Given the description of an element on the screen output the (x, y) to click on. 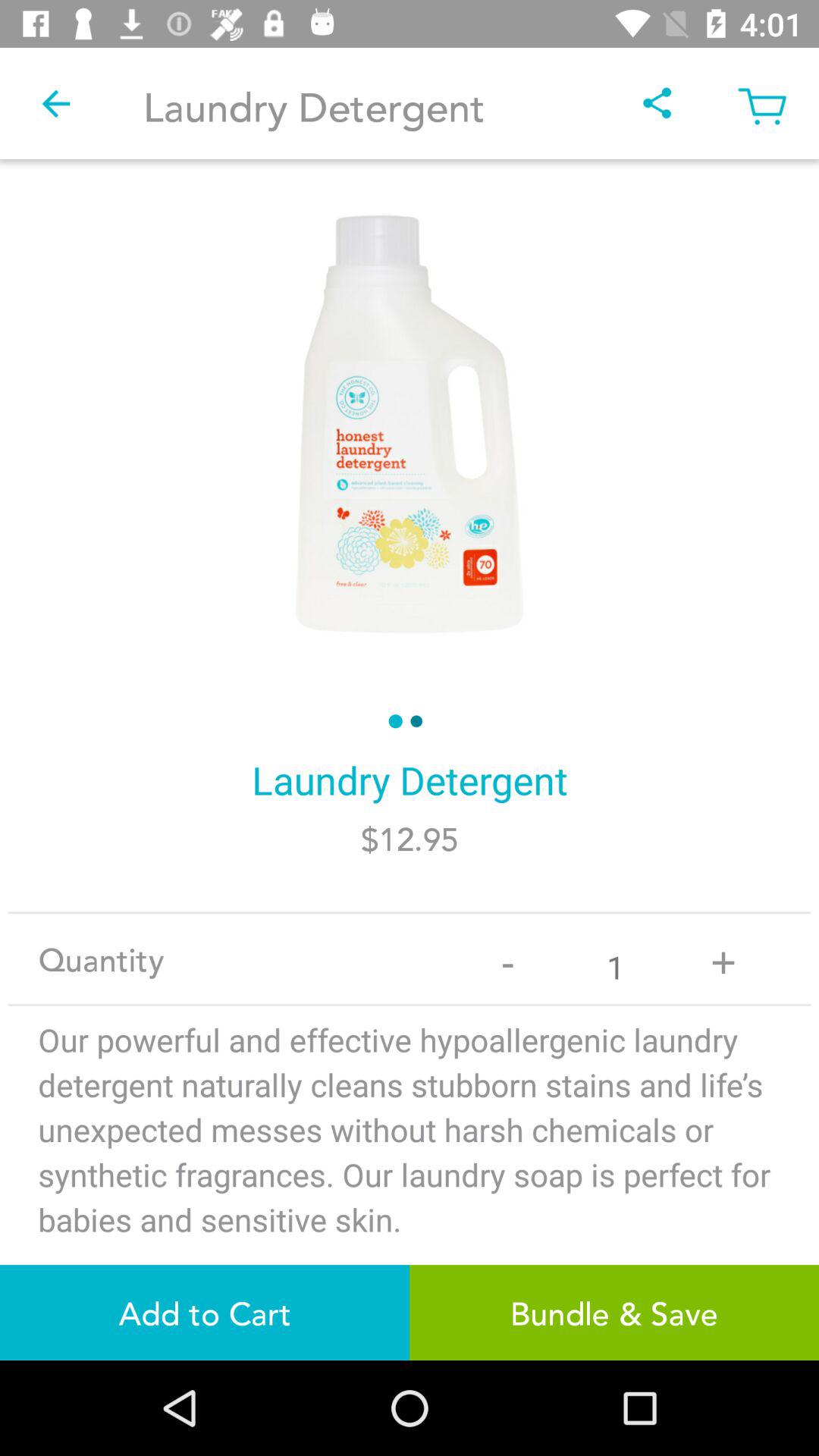
press the item to the left of the laundry detergent icon (55, 103)
